Given the description of an element on the screen output the (x, y) to click on. 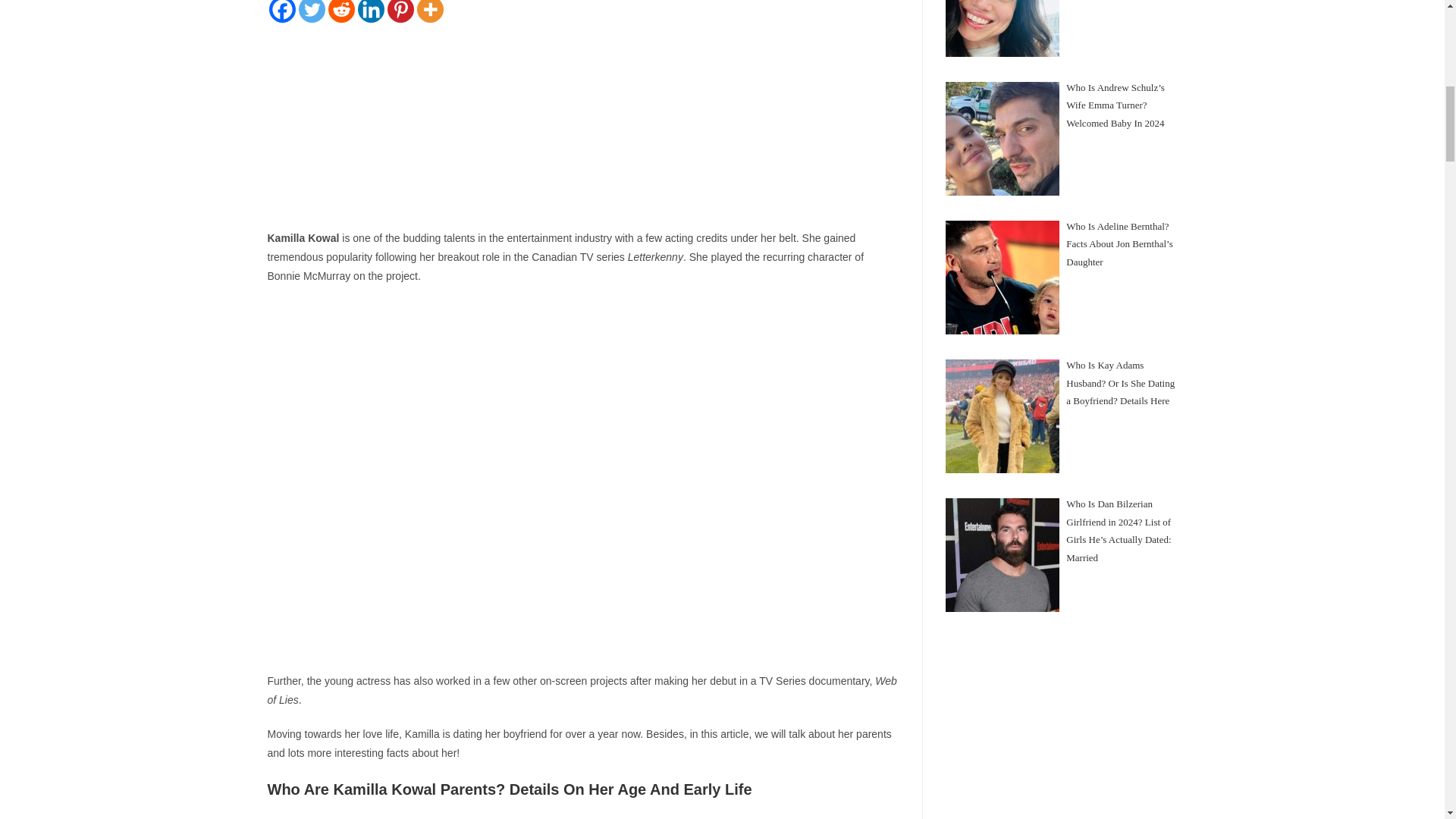
Facebook (281, 11)
Linkedin (371, 11)
Twitter (311, 11)
Reddit (340, 11)
Pinterest (400, 11)
More (430, 11)
